Given the description of an element on the screen output the (x, y) to click on. 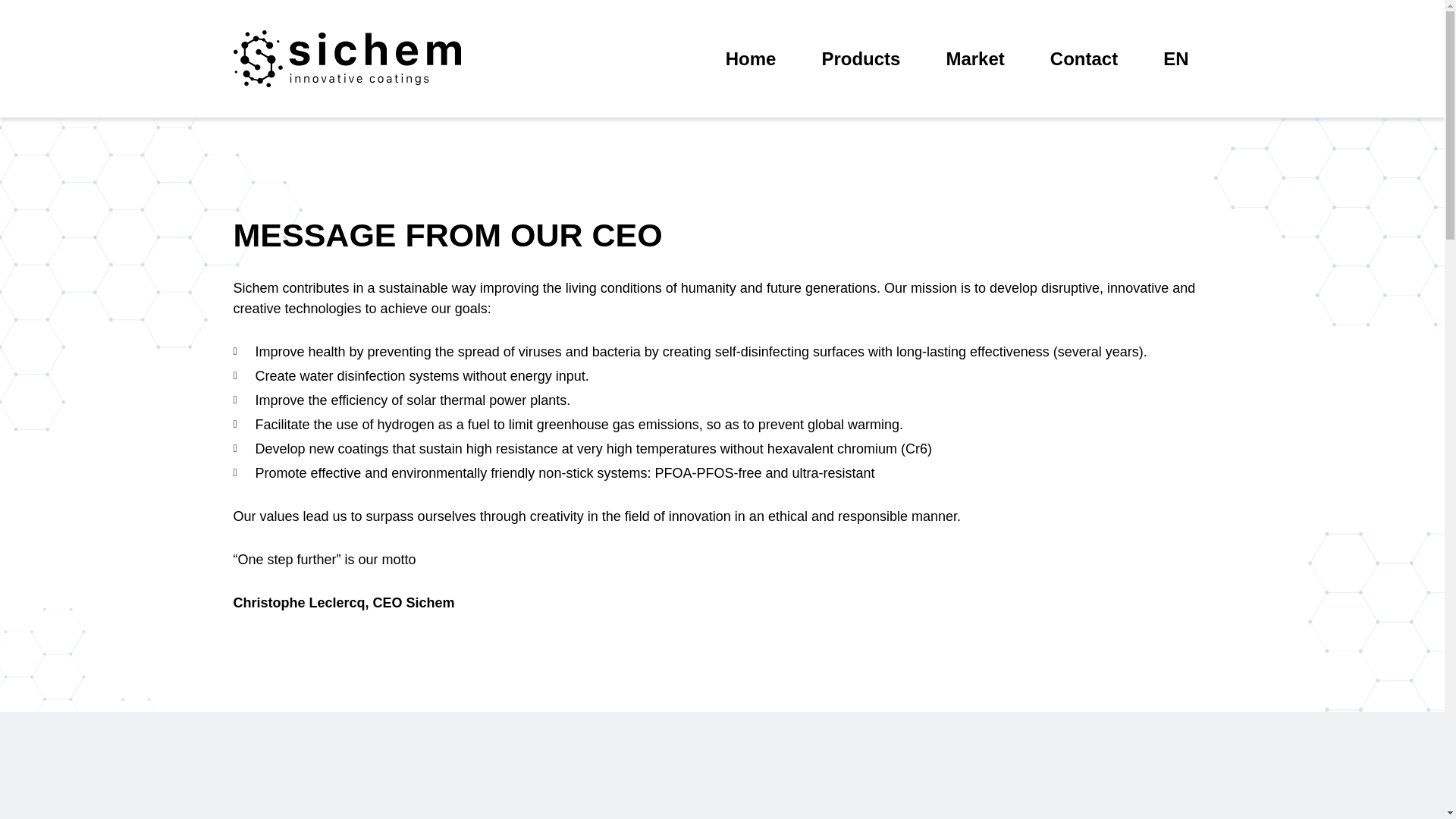
Home (751, 59)
Market (974, 59)
Contact (1083, 59)
Products (860, 59)
EN (1175, 59)
EN (1175, 59)
